Given the description of an element on the screen output the (x, y) to click on. 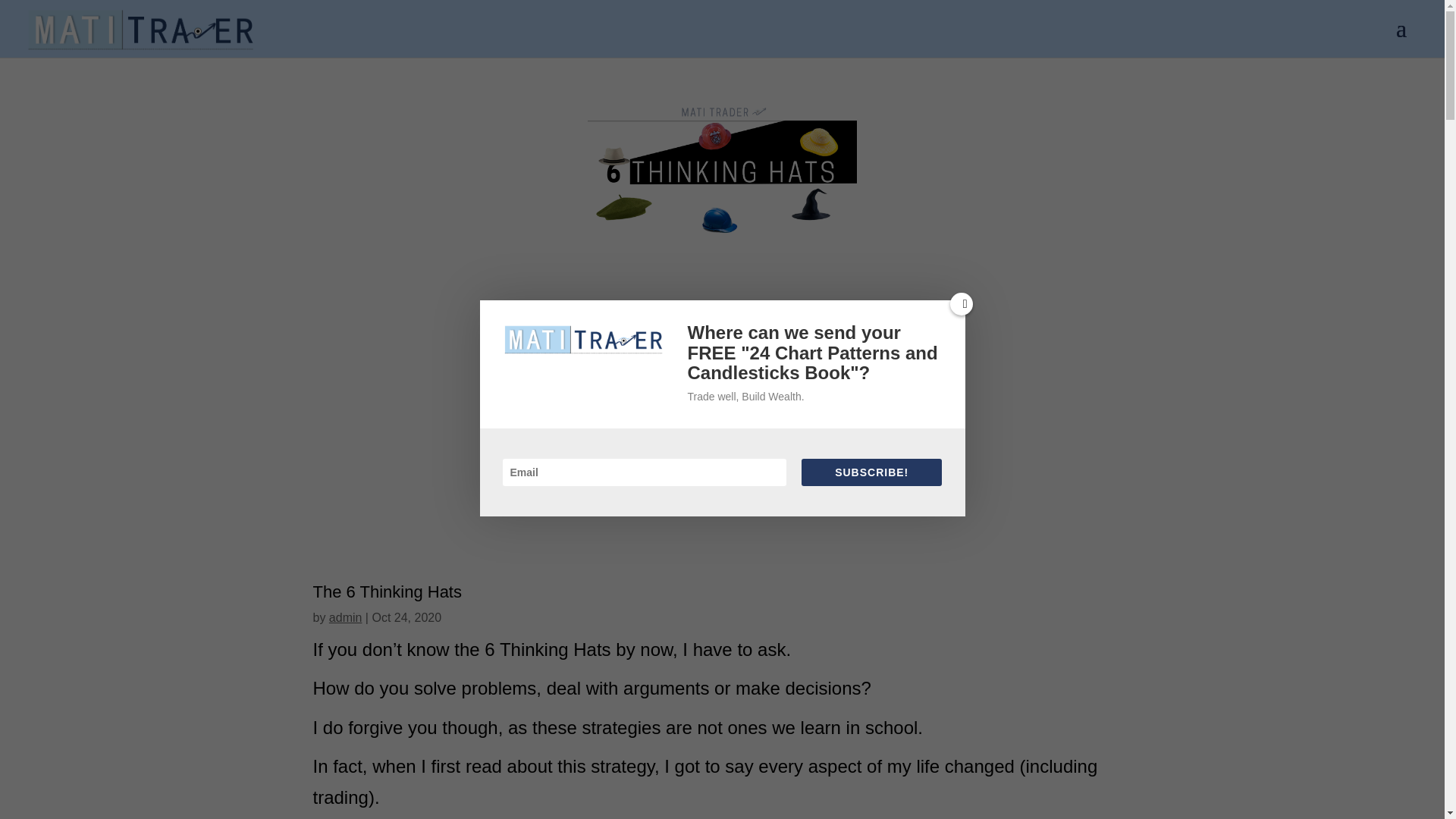
Posts by admin (345, 617)
SUBSCRIBE! (872, 472)
admin (345, 617)
